Given the description of an element on the screen output the (x, y) to click on. 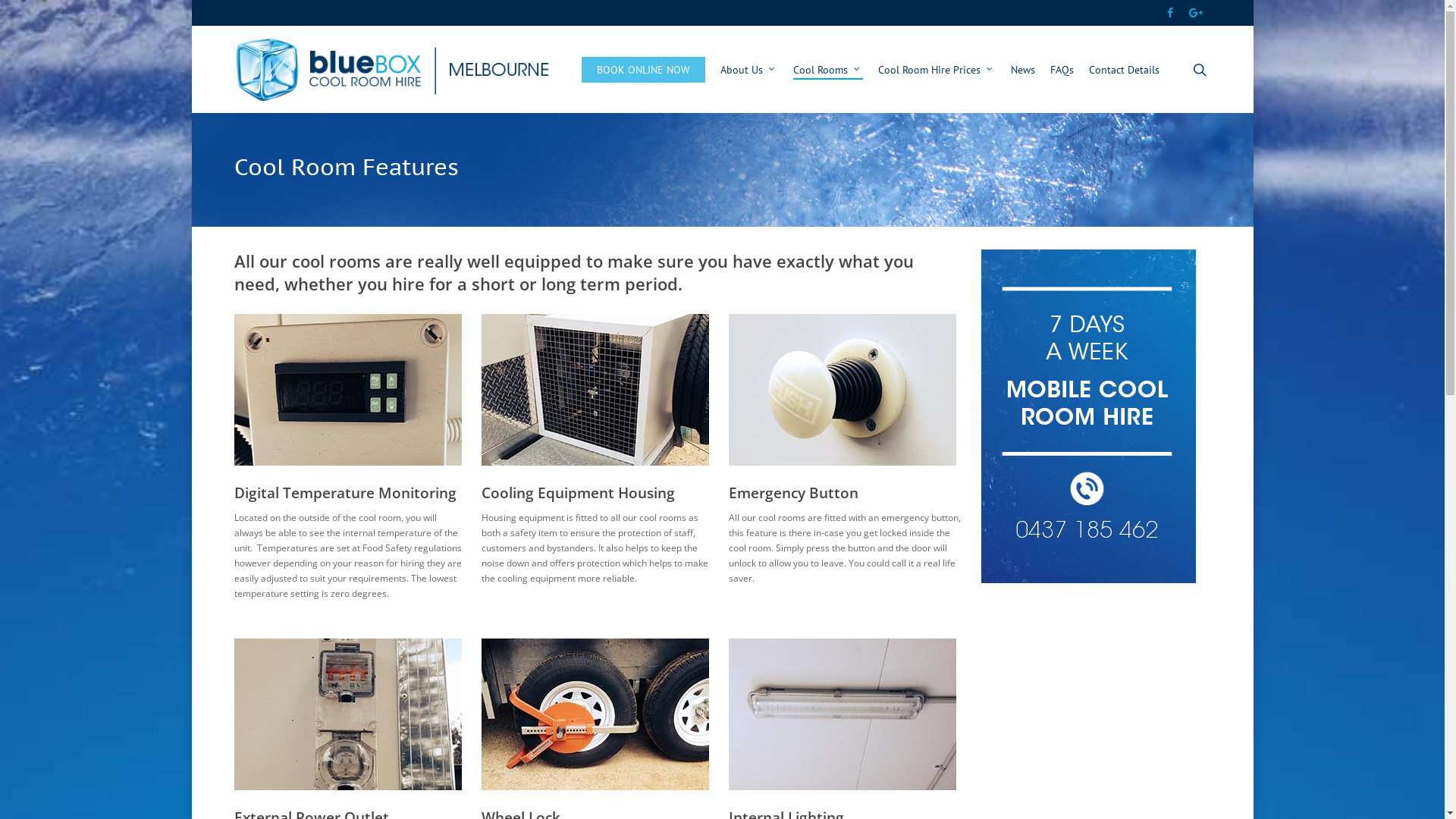
About Us Element type: text (749, 68)
FAQs Element type: text (1061, 68)
Contact Details Element type: text (1123, 68)
Cool Rooms Element type: text (827, 68)
BOOK ONLINE NOW Element type: text (642, 68)
News Element type: text (1022, 68)
Cool Room Hire Prices Element type: text (936, 68)
